Given the description of an element on the screen output the (x, y) to click on. 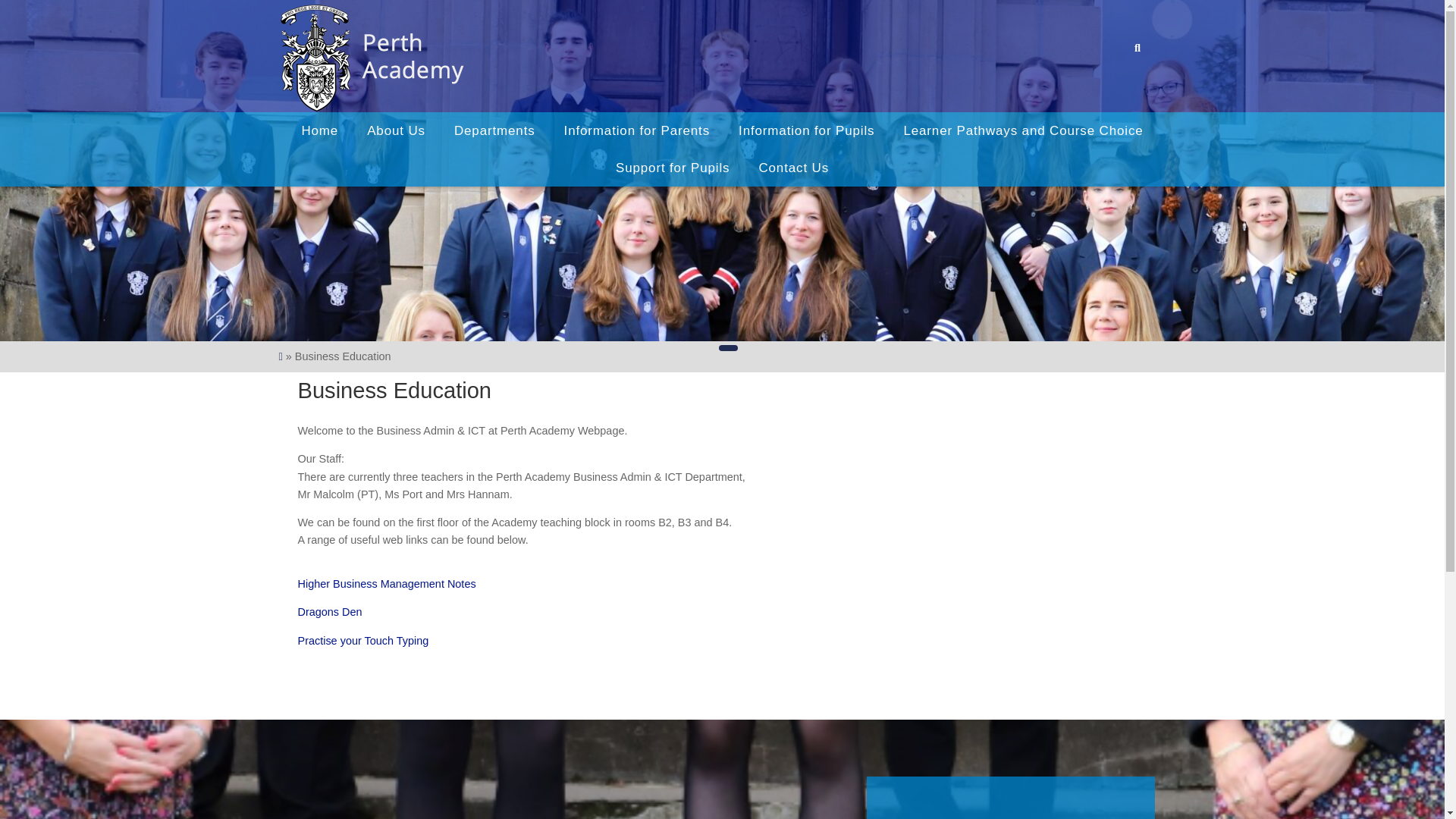
 Perth Academy  (372, 58)
